Given the description of an element on the screen output the (x, y) to click on. 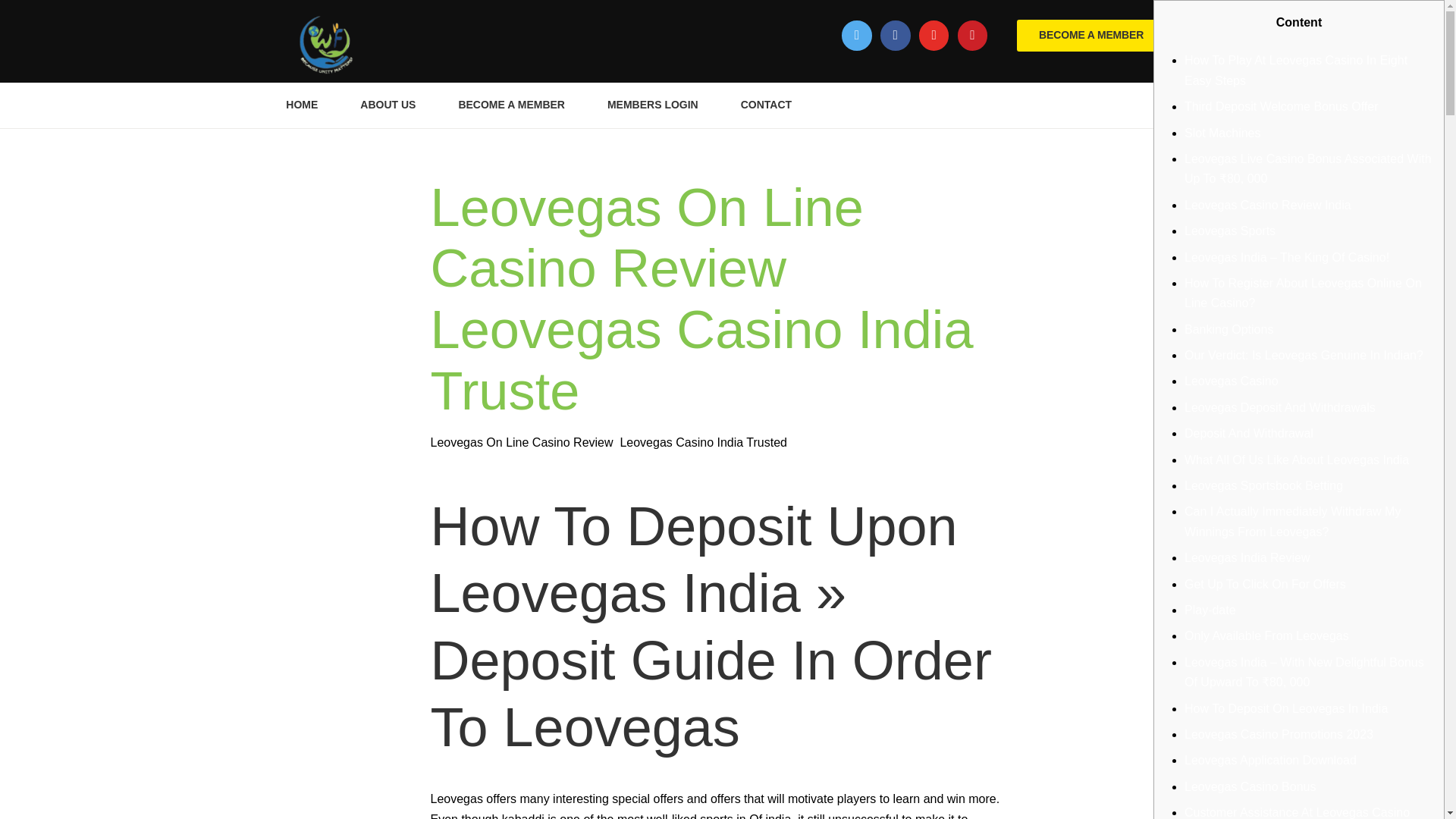
Leovegas Casino (1231, 380)
Third Deposit Welcome Bonus Offer (1281, 106)
Leovegas Casino Review India (1268, 205)
How To Play At Leovegas Casino In Eight Easy Steps (1296, 70)
Leovegas India Review (1246, 557)
Leovegas Sports (1230, 230)
Slot Machines (1222, 132)
How To Register About Leovegas Online On Line Casino? (1303, 292)
Our Verdict: Is Leovegas Genuine In Indian? (1304, 354)
